Given the description of an element on the screen output the (x, y) to click on. 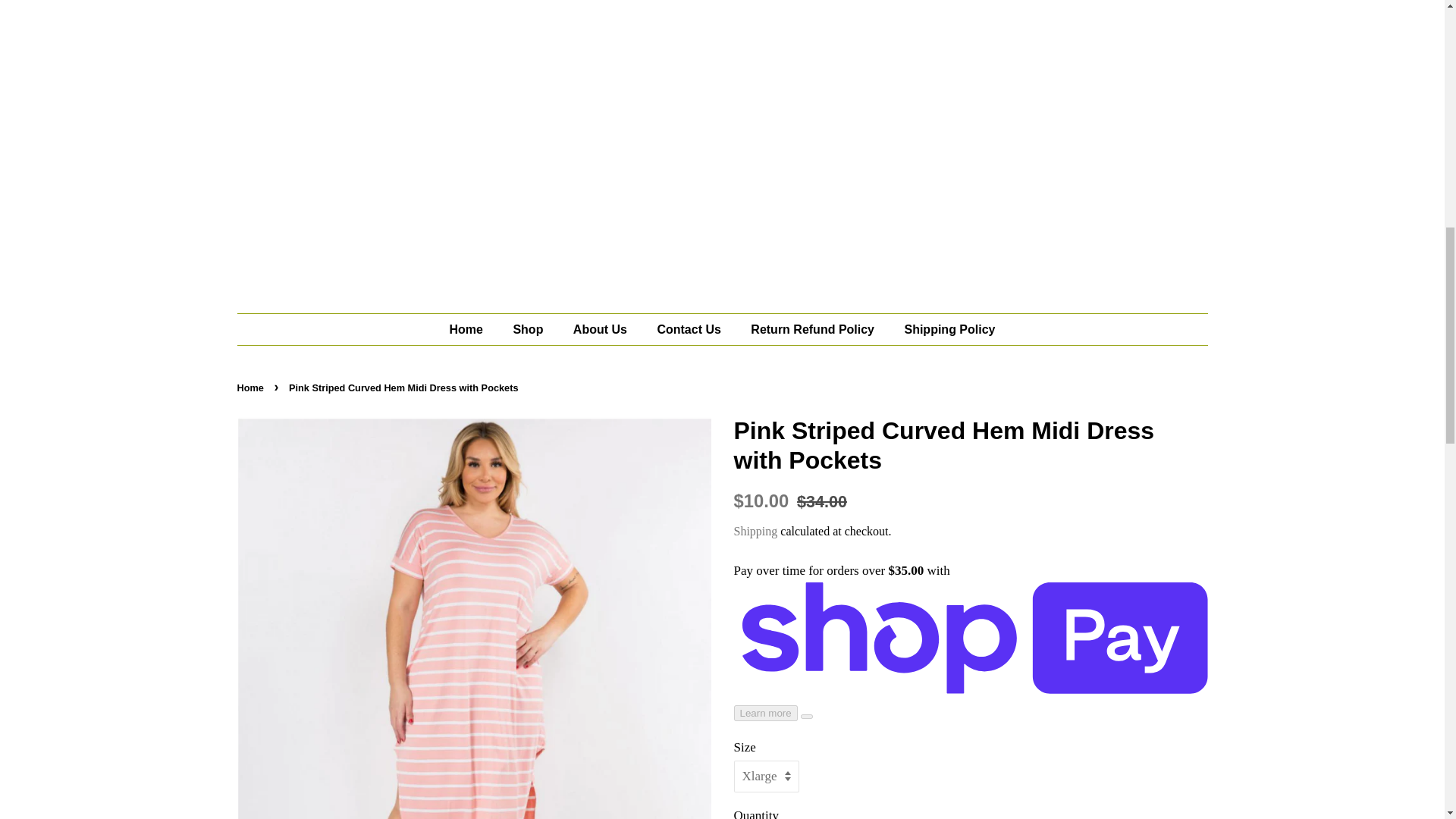
Shipping Policy (943, 328)
Back to the frontpage (250, 387)
Shop (528, 328)
Return Refund Policy (814, 328)
Shipping (755, 530)
Home (472, 328)
Contact Us (690, 328)
Home (250, 387)
About Us (602, 328)
